Given the description of an element on the screen output the (x, y) to click on. 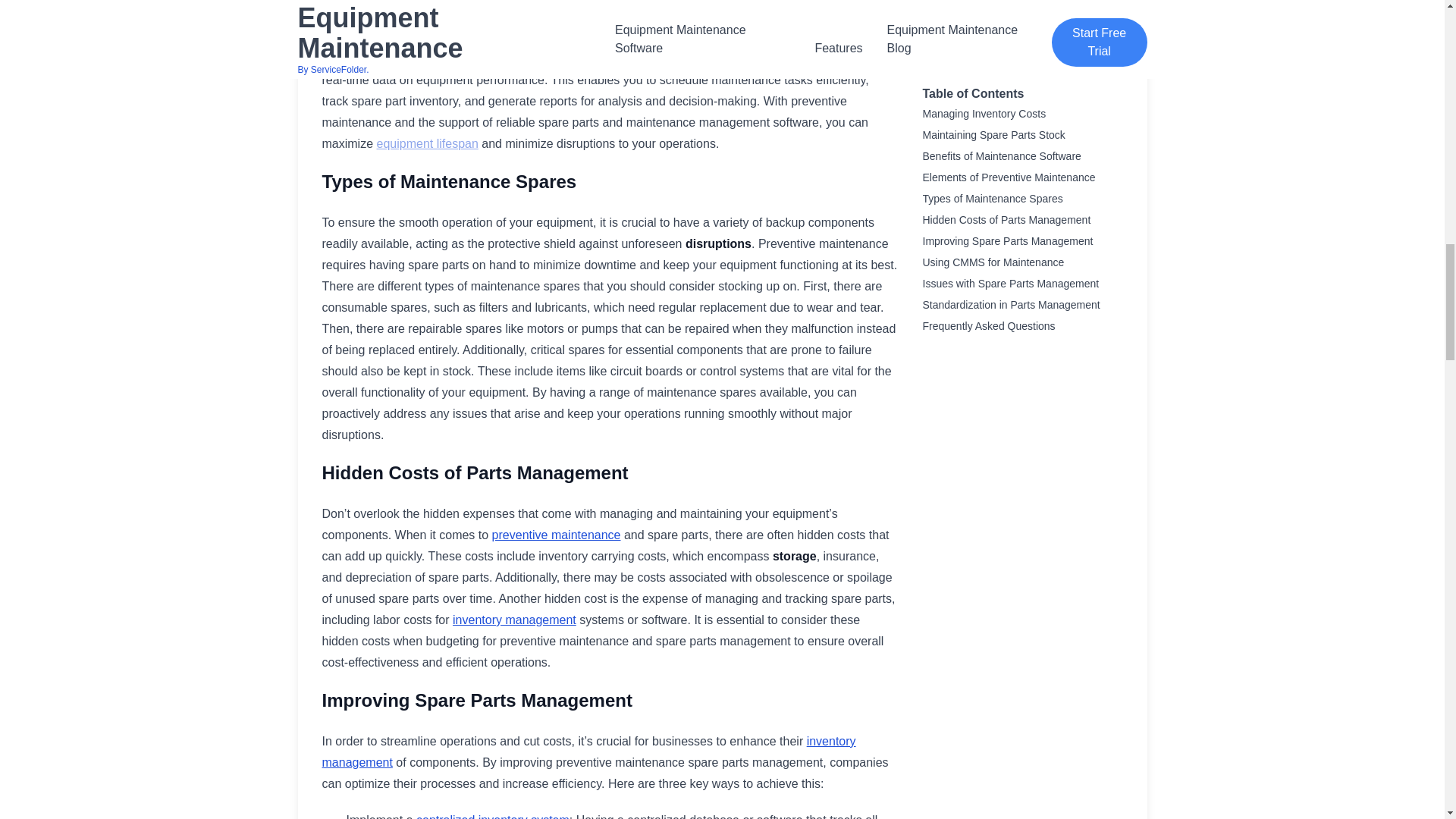
equipment lifespan (428, 143)
centralized inventory system (492, 816)
inventory management (588, 751)
inventory management (514, 619)
preventive maintenance (556, 534)
maintenance management software (794, 37)
